Given the description of an element on the screen output the (x, y) to click on. 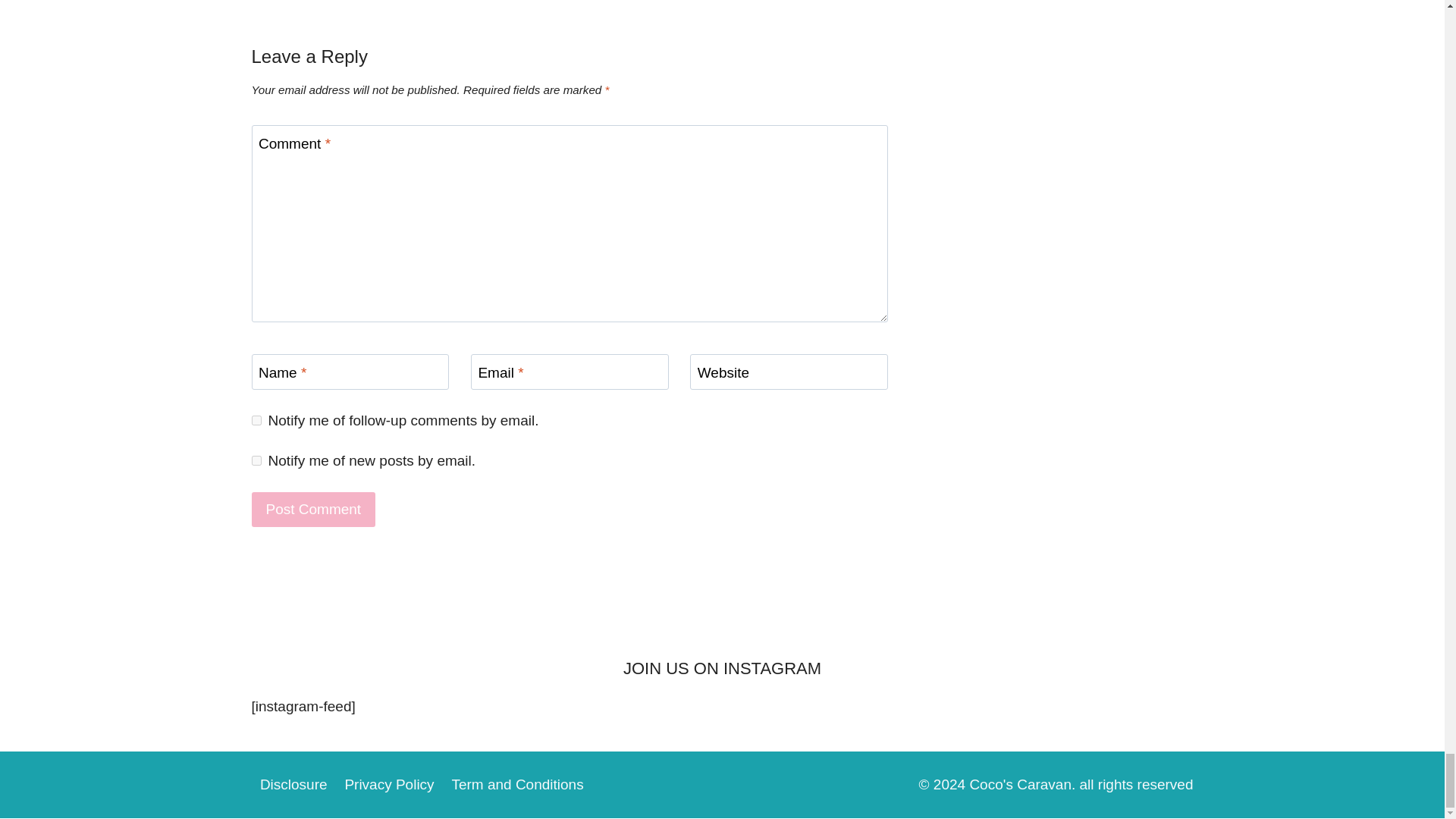
subscribe (256, 460)
subscribe (256, 420)
Post Comment (313, 509)
